Given the description of an element on the screen output the (x, y) to click on. 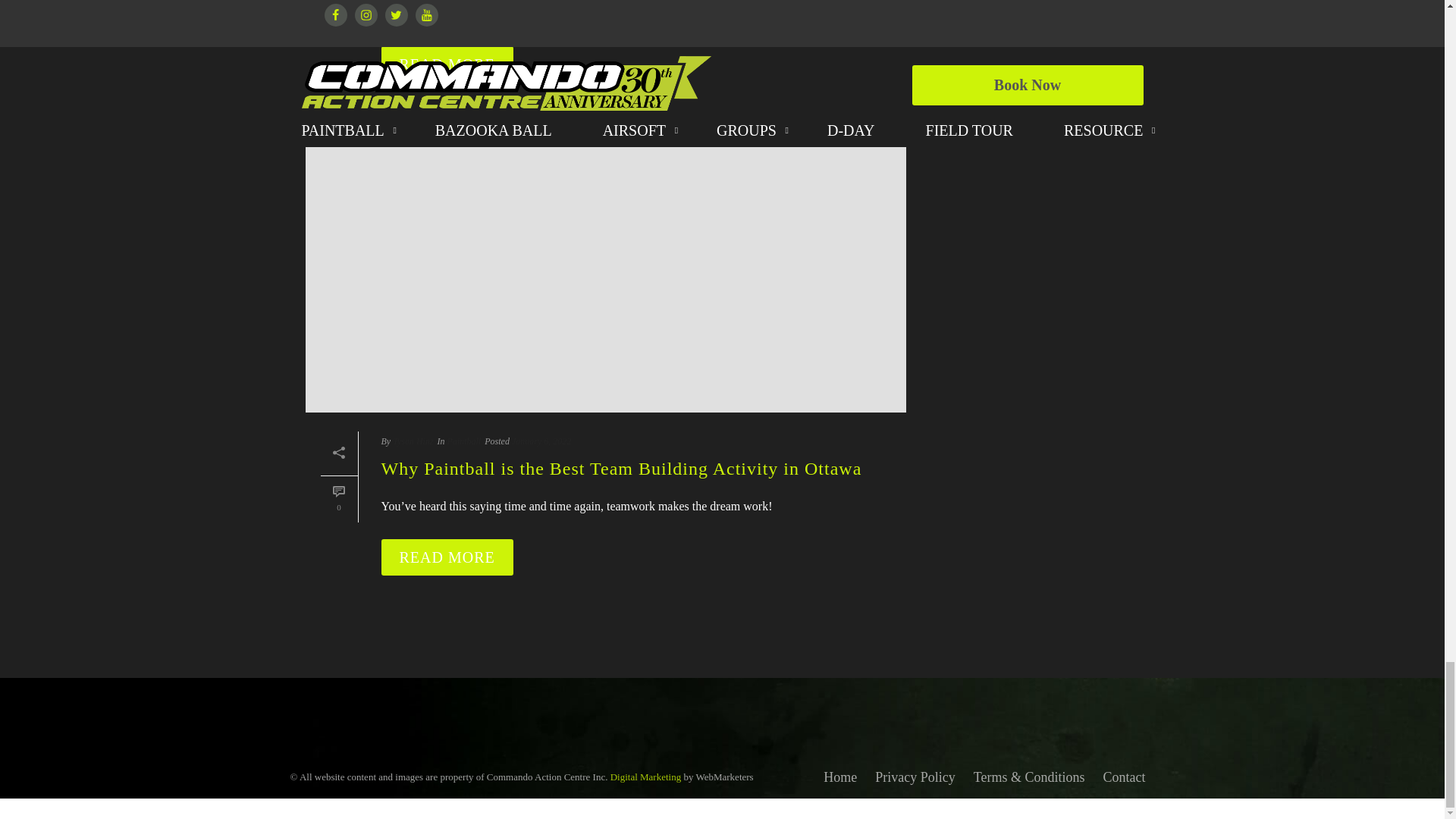
READ MORE (446, 63)
READ MORE (446, 556)
